Given the description of an element on the screen output the (x, y) to click on. 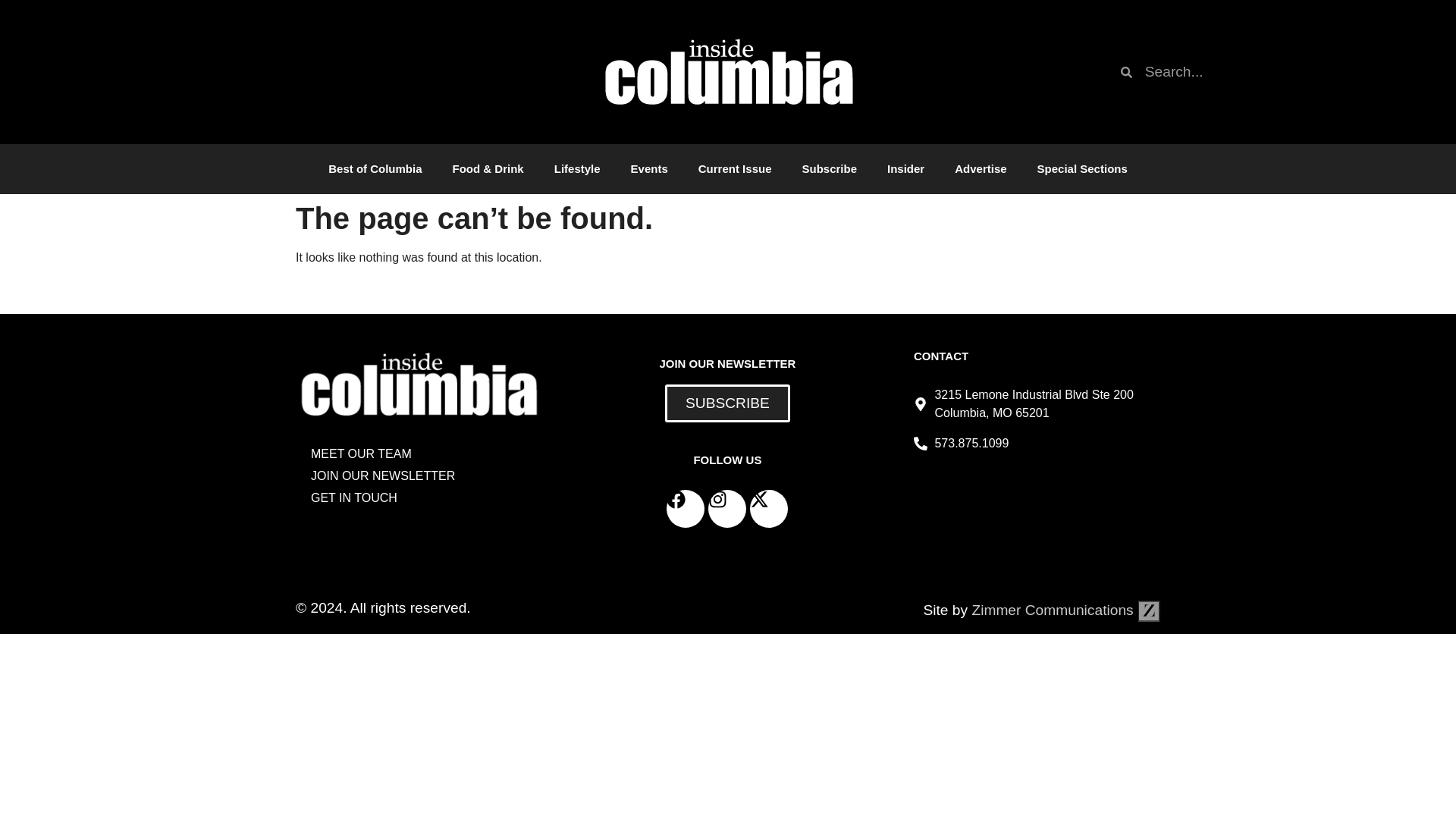
Current Issue (734, 168)
Best of Columbia (374, 168)
Subscribe (829, 168)
Lifestyle (576, 168)
Insider (905, 168)
Events (648, 168)
